Given the description of an element on the screen output the (x, y) to click on. 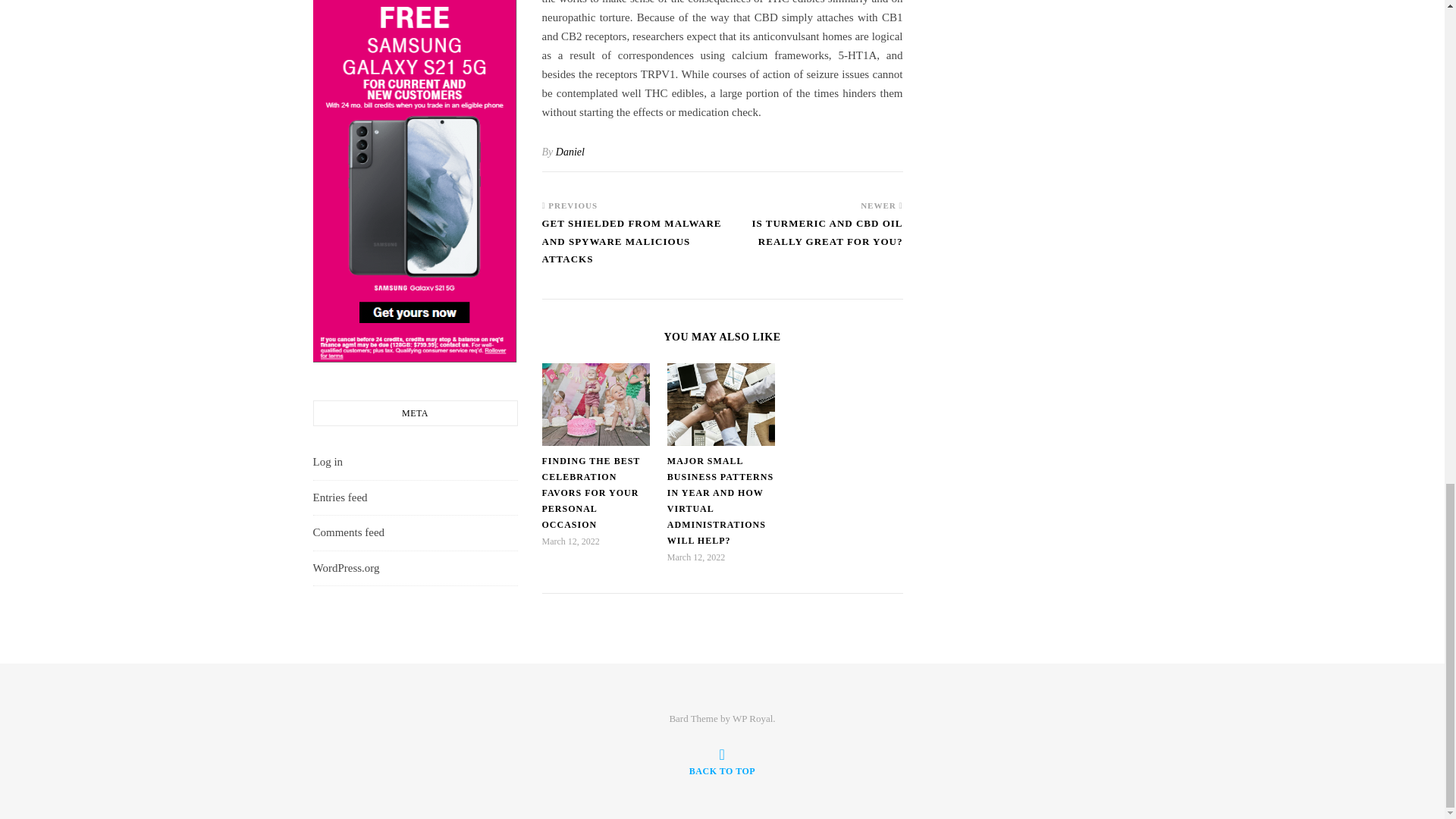
BACK TO TOP (722, 761)
